Given the description of an element on the screen output the (x, y) to click on. 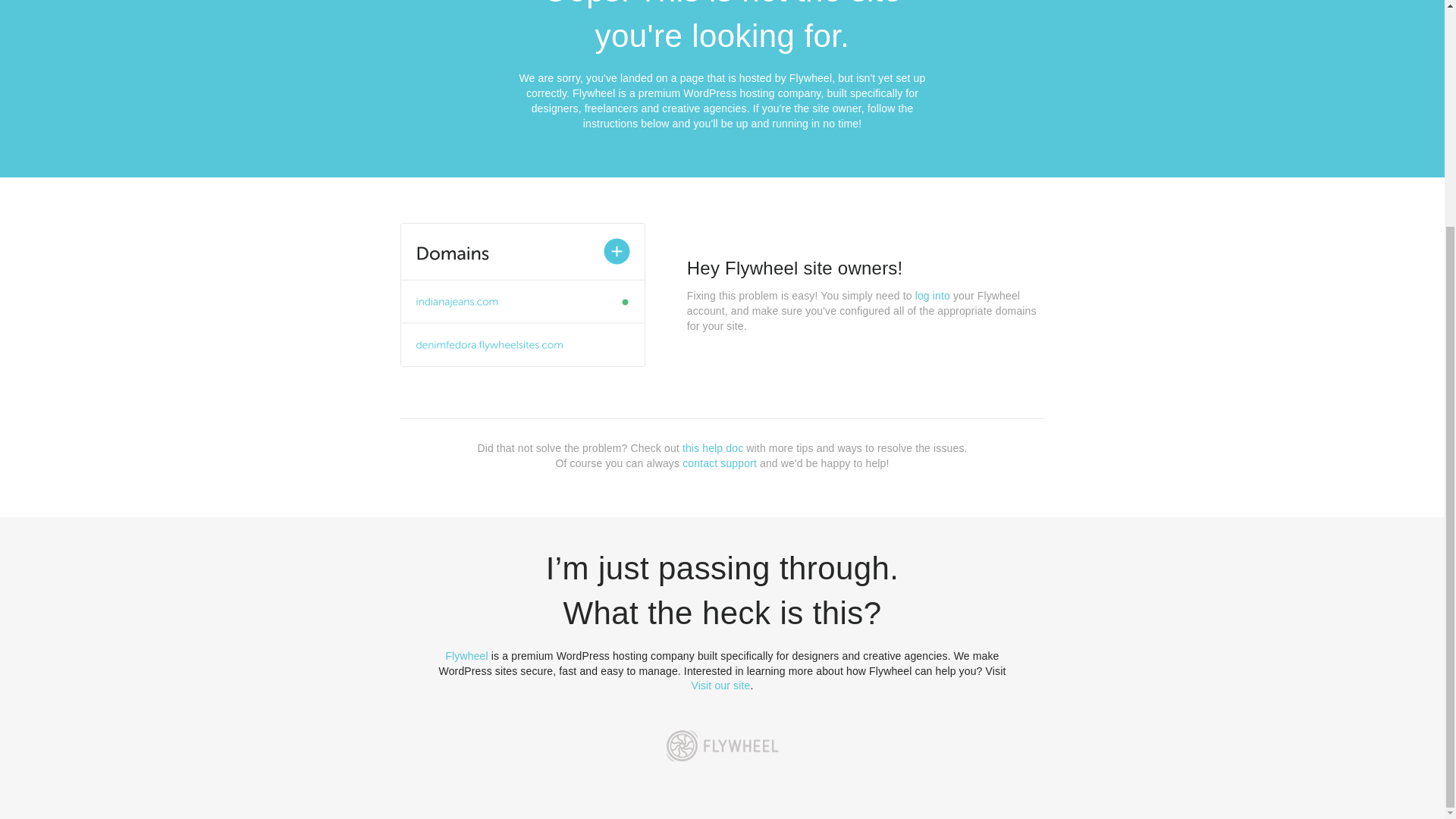
Flywheel (466, 655)
contact support (719, 463)
this help doc (712, 448)
Visit our site (721, 685)
log into (932, 295)
